Given the description of an element on the screen output the (x, y) to click on. 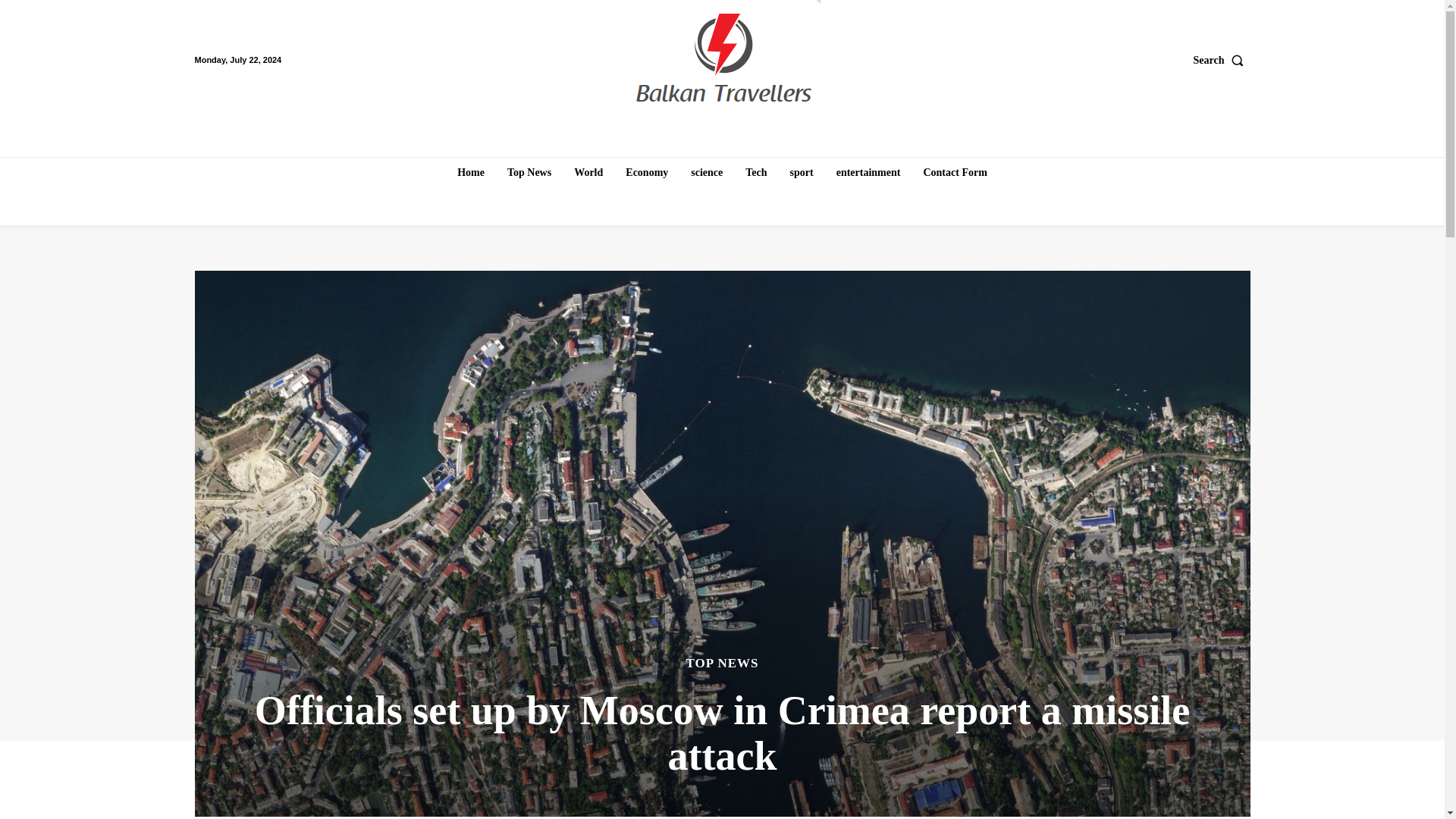
Tech (756, 173)
Economy (646, 173)
World (588, 173)
Top News (529, 173)
sport (802, 173)
Contact Form (954, 173)
entertainment (868, 173)
Home (470, 173)
Search (1221, 60)
science (706, 173)
